Given the description of an element on the screen output the (x, y) to click on. 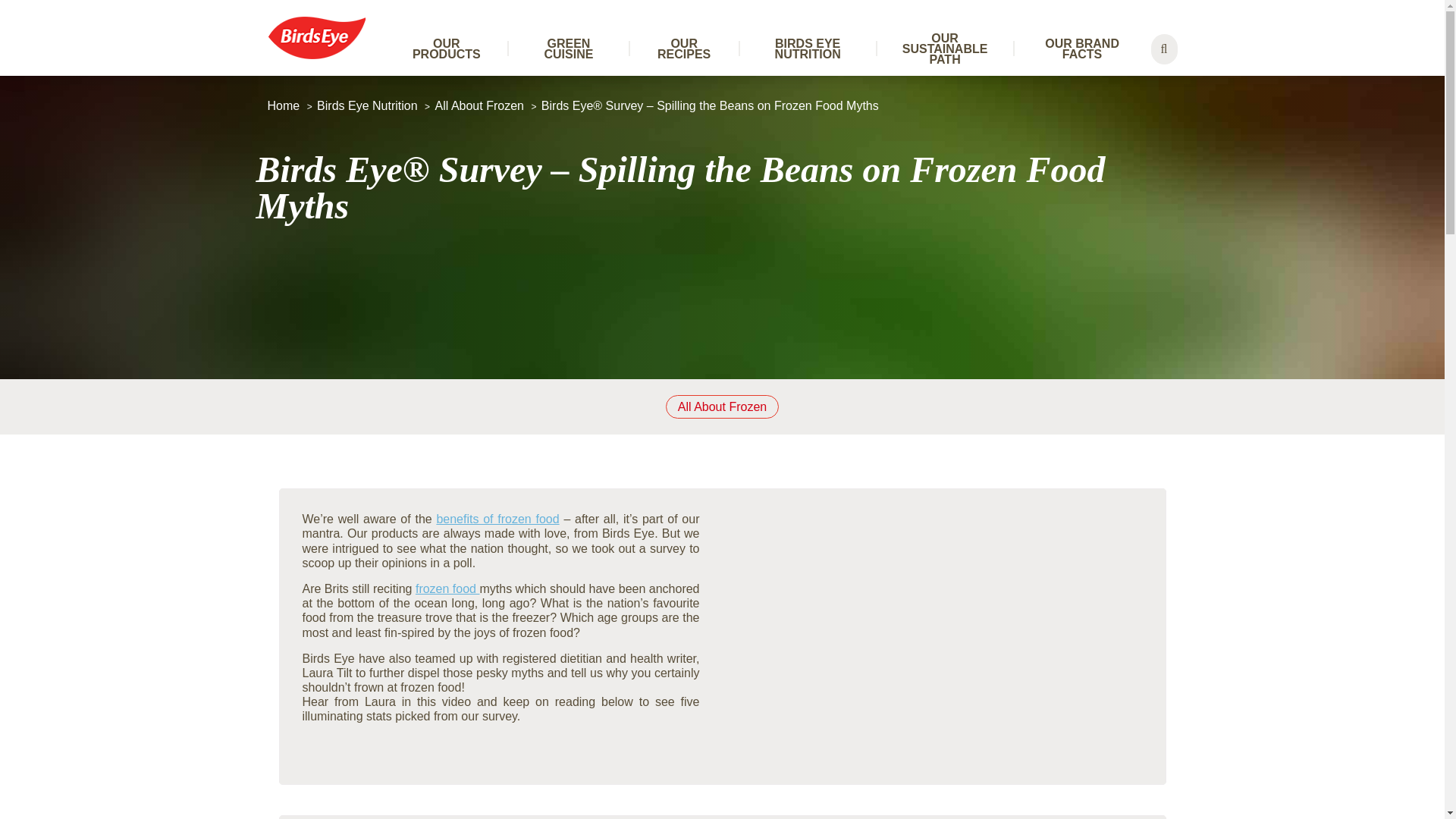
OUR RECIPES (683, 49)
all-about-frozen (479, 105)
Our Sustainable Path (944, 49)
Birds Eye Nutrition (367, 105)
benefits of frozen food (497, 518)
BIRDS EYE NUTRITION (807, 49)
frozen-food-myths (710, 105)
nutrition (367, 105)
Our Products (446, 49)
Green Cuisine (568, 49)
Our Brand Facts (1082, 49)
All About Frozen (721, 406)
GREEN CUISINE (568, 49)
All About Frozen (479, 105)
OUR SUSTAINABLE PATH (944, 49)
